Given the description of an element on the screen output the (x, y) to click on. 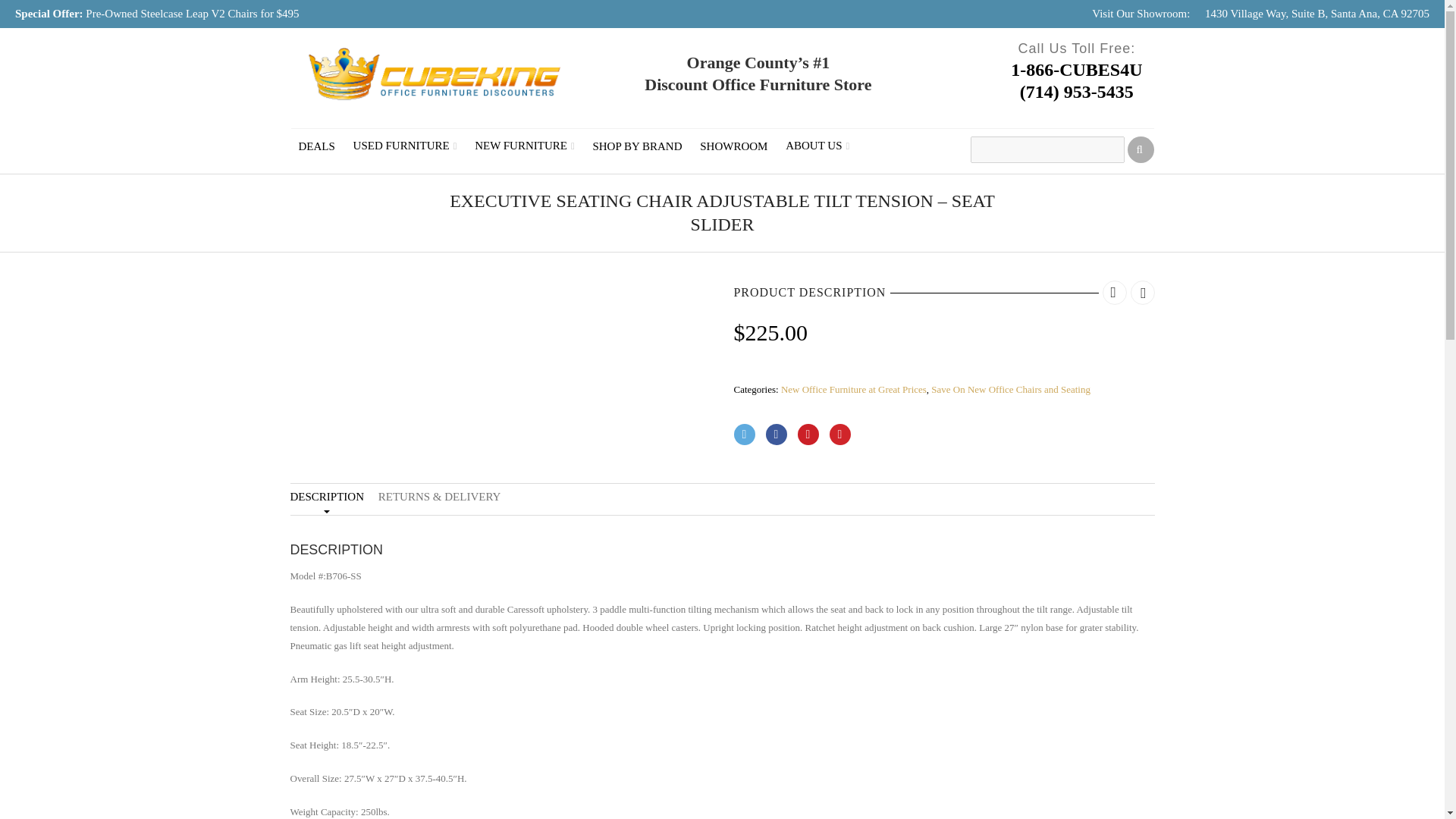
Pinterest (807, 434)
Facebook (776, 434)
Twitter (744, 434)
Mail to friend (839, 434)
